Given the description of an element on the screen output the (x, y) to click on. 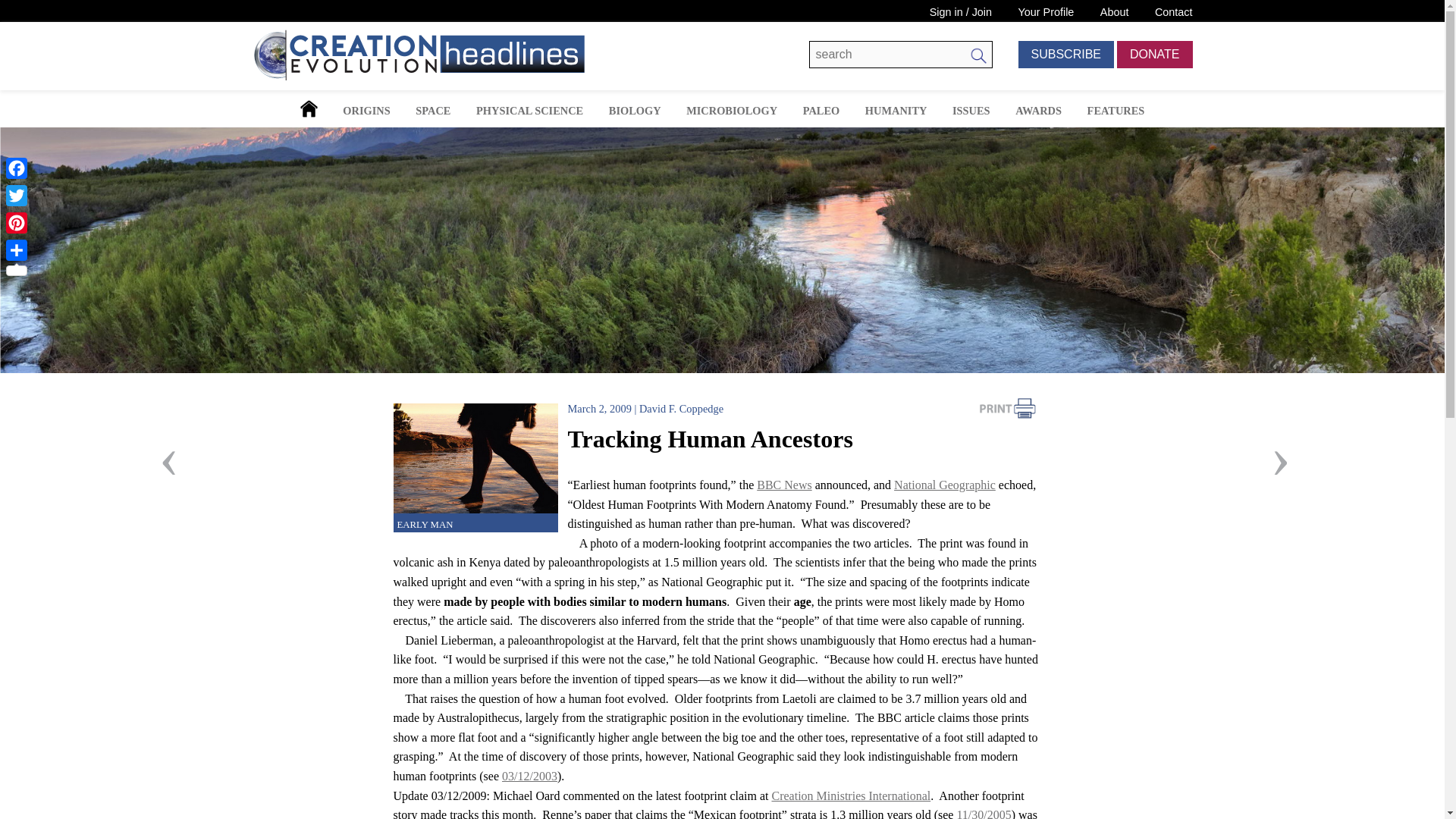
SUBSCRIBE (1065, 53)
About (1114, 11)
Contact (1173, 11)
SPACE (431, 110)
Pinterest (16, 222)
PHYSICAL SCIENCE (529, 110)
Tracking Human Ancestors (475, 457)
Facebook (16, 167)
ORIGINS (366, 110)
MICROBIOLOGY (731, 110)
DONATE (1154, 53)
Your Profile (1045, 11)
PALEO (821, 110)
HUMANITY (895, 110)
BIOLOGY (634, 110)
